Given the description of an element on the screen output the (x, y) to click on. 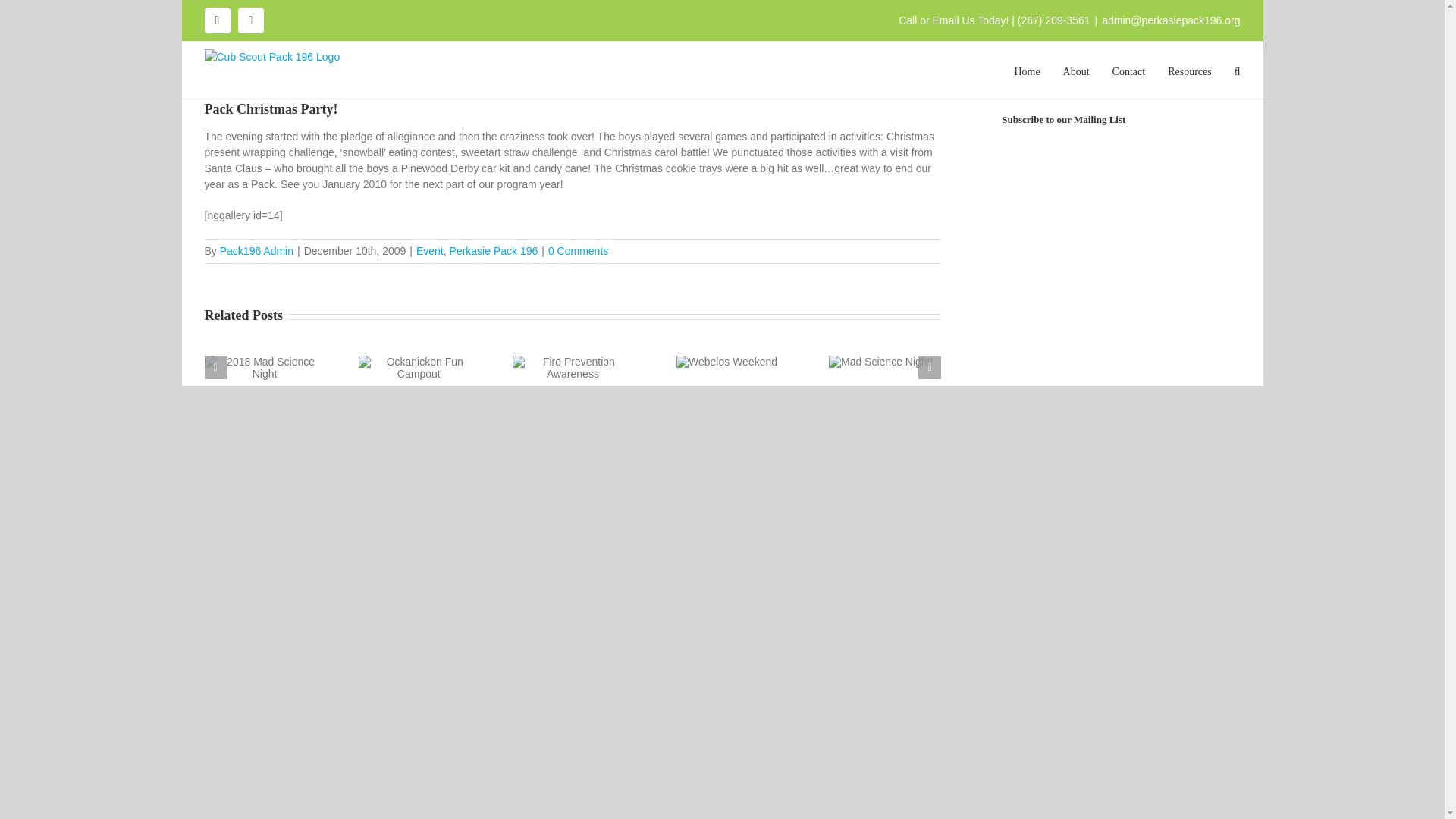
Facebook (217, 20)
Pack196 Admin (256, 250)
Posts by Pack196 Admin (256, 250)
Vimeo (250, 20)
Event (430, 250)
0 Comments (578, 250)
Vimeo (250, 20)
Facebook (217, 20)
Perkasie Pack 196 (493, 250)
